Given the description of an element on the screen output the (x, y) to click on. 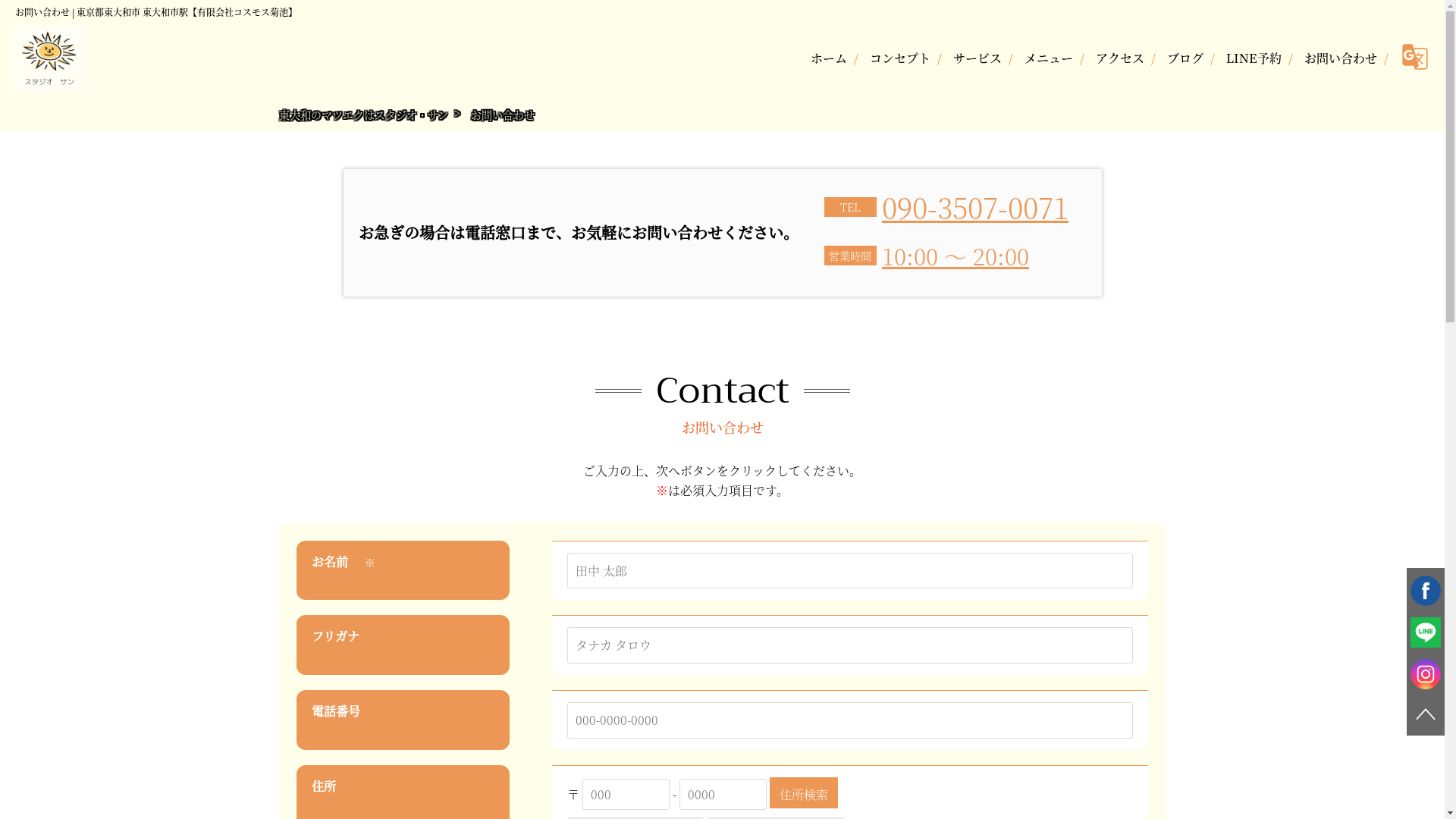
090-3507-0071 Element type: text (974, 206)
